Given the description of an element on the screen output the (x, y) to click on. 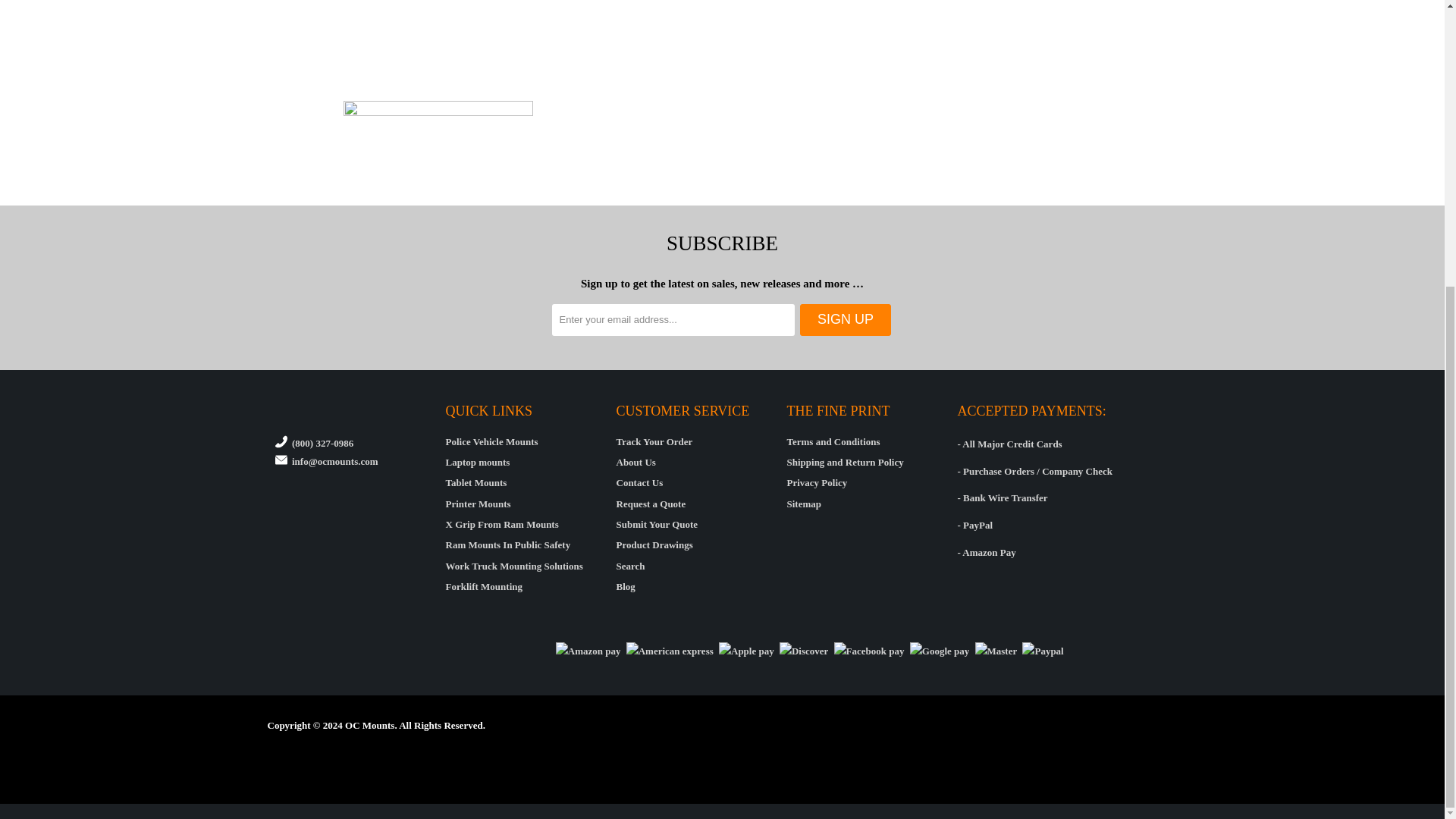
Sign Up (845, 319)
